Given the description of an element on the screen output the (x, y) to click on. 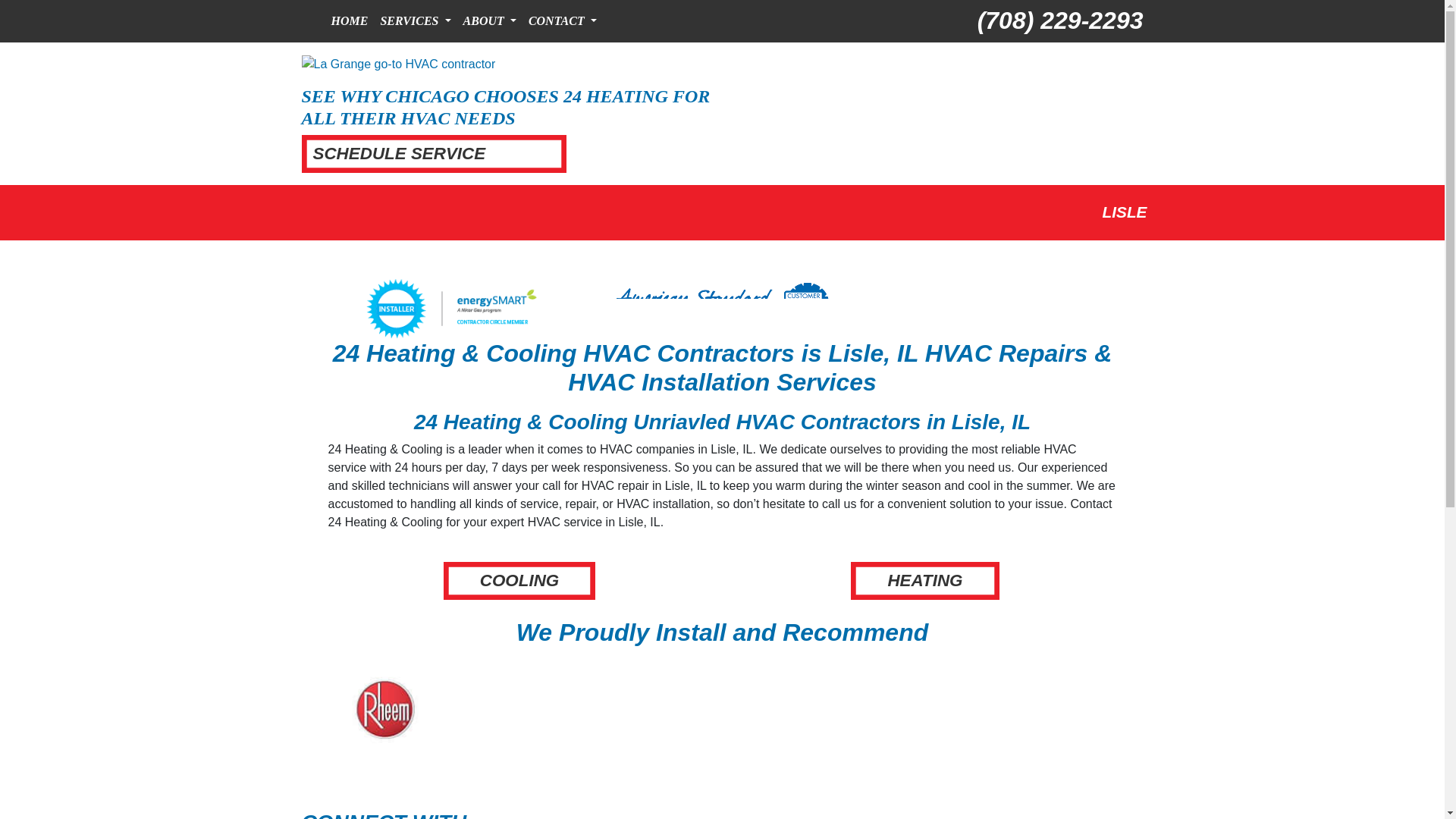
SERVICES (415, 20)
HOME (349, 20)
